Given the description of an element on the screen output the (x, y) to click on. 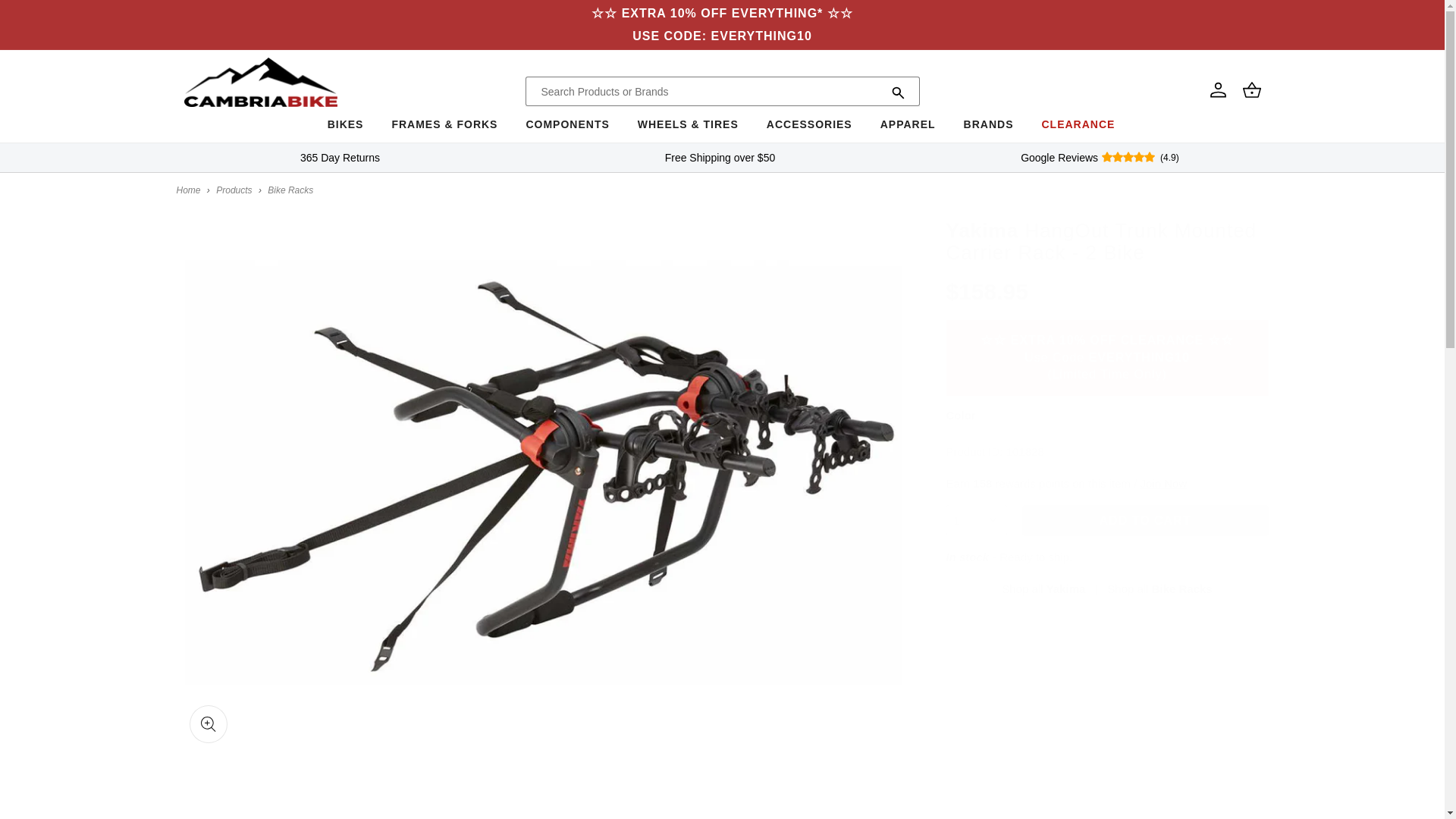
Cambria Bike (188, 190)
Bike Racks (290, 190)
Skip to content (45, 17)
Products (233, 190)
Bike Racks (1158, 588)
